Given the description of an element on the screen output the (x, y) to click on. 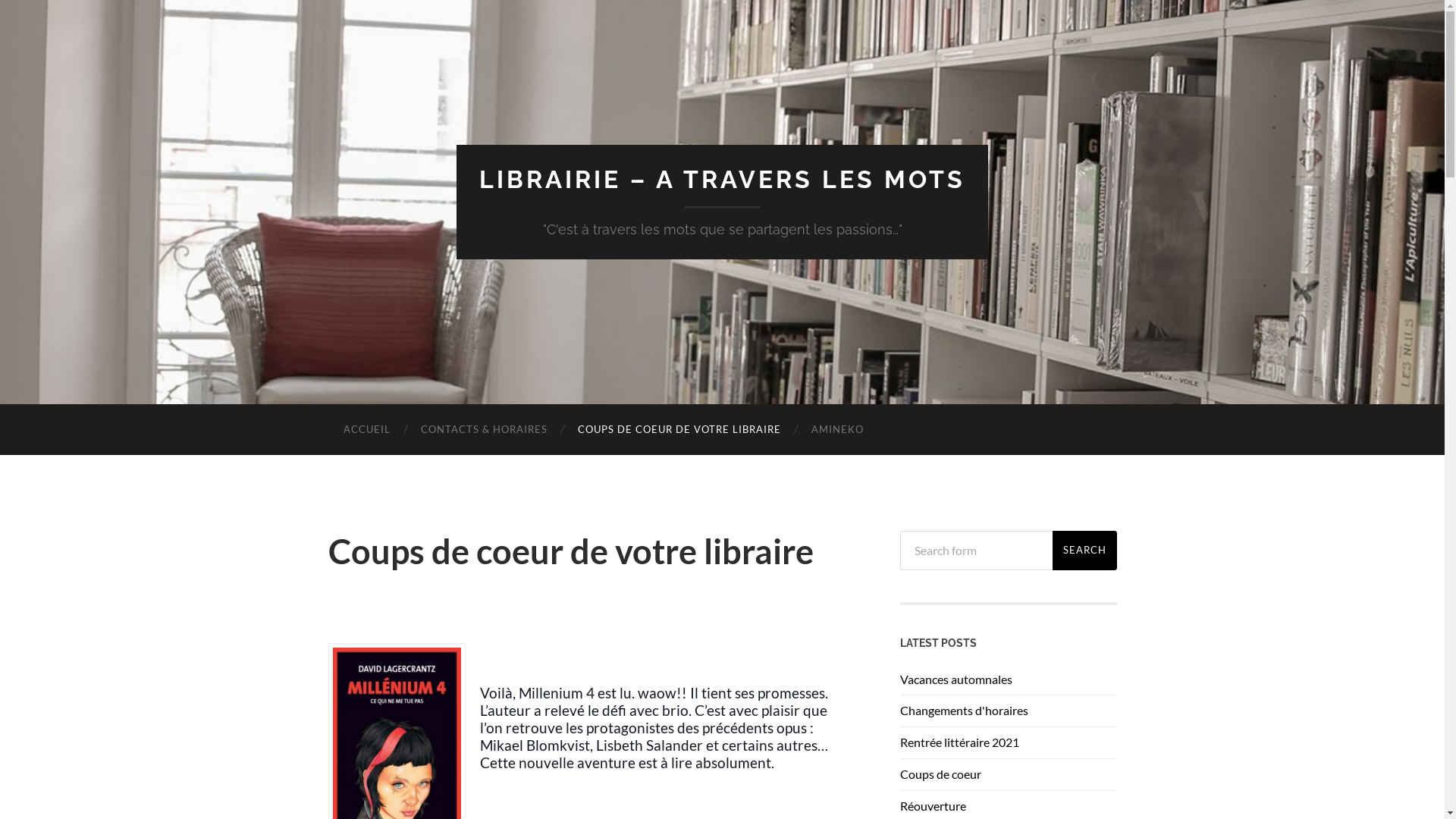
Changements d'horaires Element type: text (963, 709)
COUPS DE COEUR DE VOTRE LIBRAIRE Element type: text (679, 428)
Coups de coeur Element type: text (939, 773)
Search Element type: text (1084, 550)
AMINEKO Element type: text (837, 428)
CONTACTS & HORAIRES Element type: text (482, 428)
Vacances automnales Element type: text (955, 678)
ACCUEIL Element type: text (365, 428)
